Given the description of an element on the screen output the (x, y) to click on. 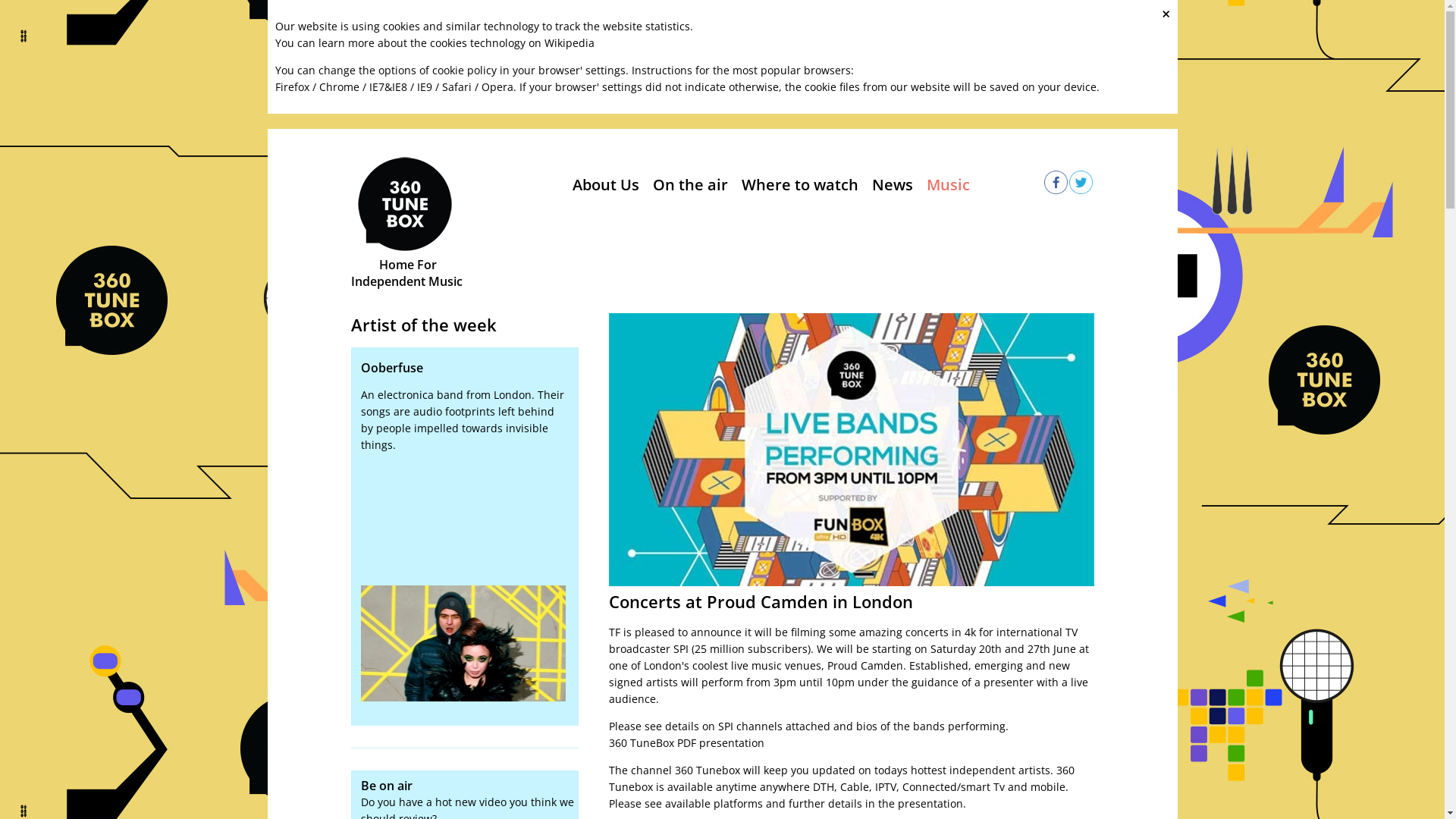
Chrome Element type: text (338, 86)
Where to watch Element type: text (799, 184)
Opera Element type: text (496, 86)
News Element type: text (892, 184)
IE7&IE8 Element type: text (387, 86)
Firefox Element type: text (291, 86)
Safari Element type: text (455, 86)
Wikipedia Element type: text (569, 42)
About Us Element type: text (604, 184)
Music Element type: text (947, 184)
On the air Element type: text (689, 184)
IE9 Element type: text (424, 86)
360 TuneBox PDF presentation Element type: text (685, 742)
